Given the description of an element on the screen output the (x, y) to click on. 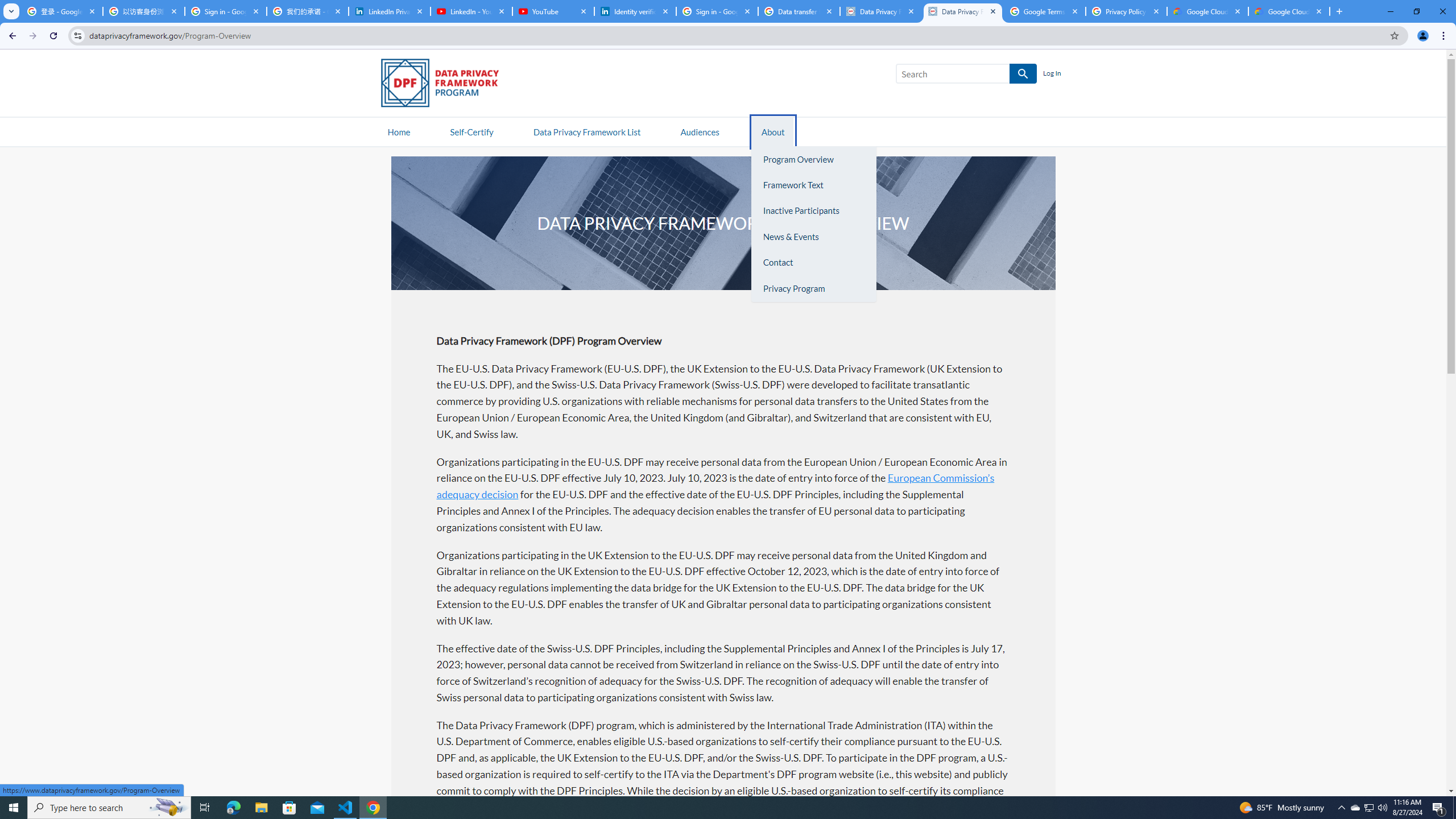
Privacy Program (813, 288)
Log In (1051, 73)
About (772, 131)
Data Privacy Framework List (586, 131)
